Given the description of an element on the screen output the (x, y) to click on. 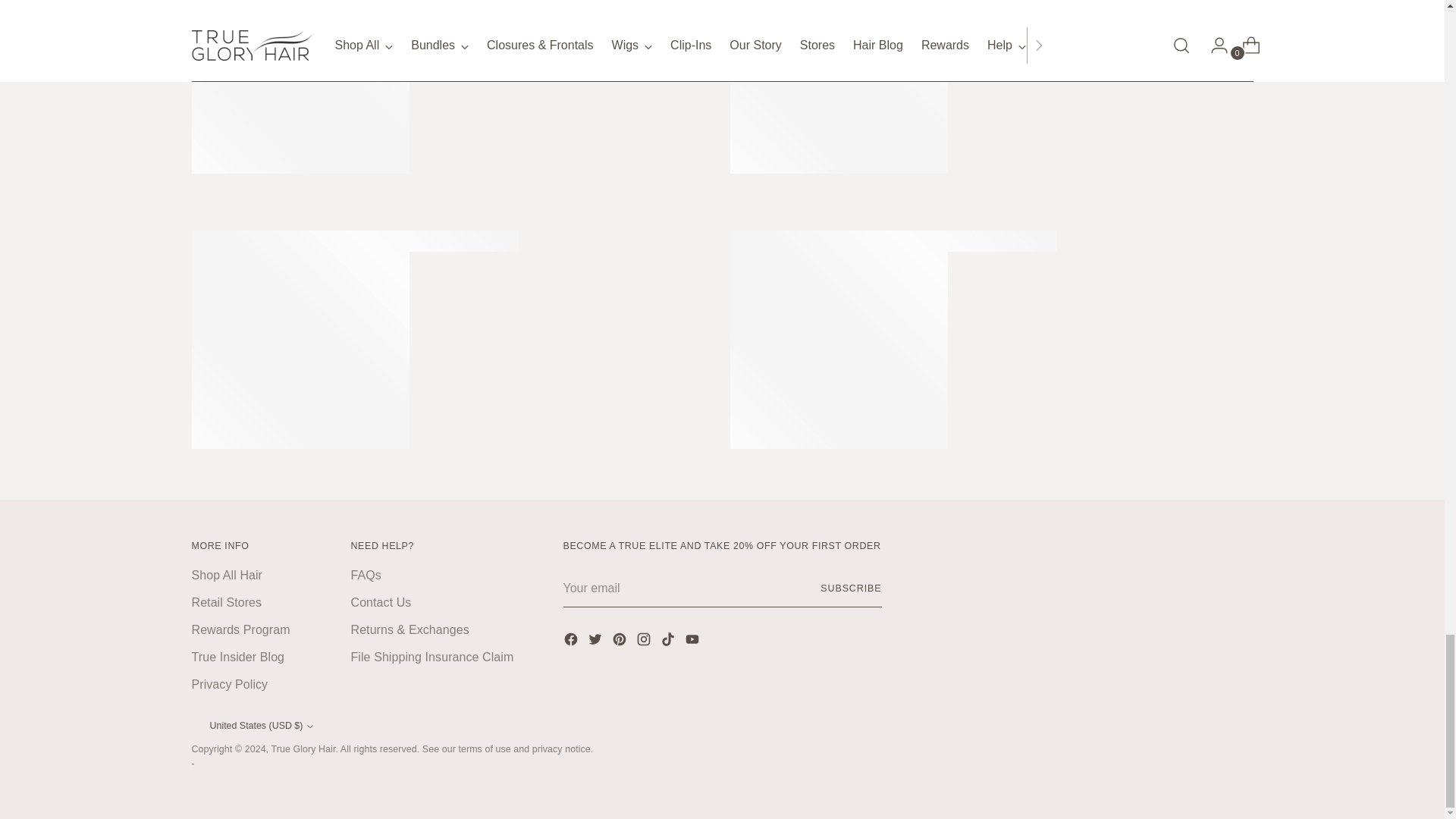
True Glory Hair on Twitter (595, 641)
True Glory Hair on Instagram (643, 641)
True Glory Hair on Tiktok (668, 641)
True Glory Hair on Pinterest (619, 641)
True Glory Hair on YouTube (692, 641)
